Given the description of an element on the screen output the (x, y) to click on. 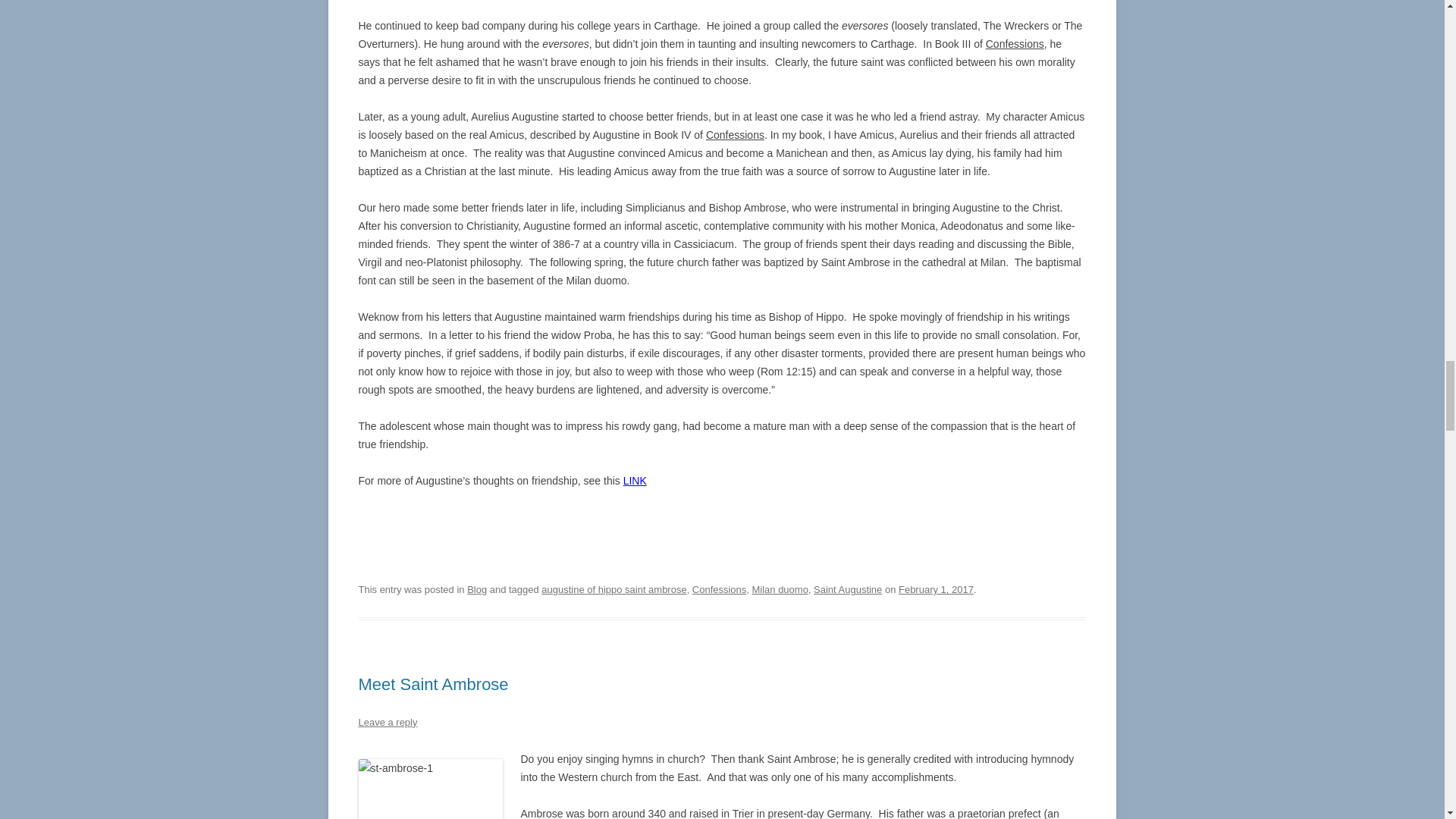
10:00 am (936, 589)
augustine of hippo saint ambrose (613, 589)
LINK (634, 480)
Blog (476, 589)
